Given the description of an element on the screen output the (x, y) to click on. 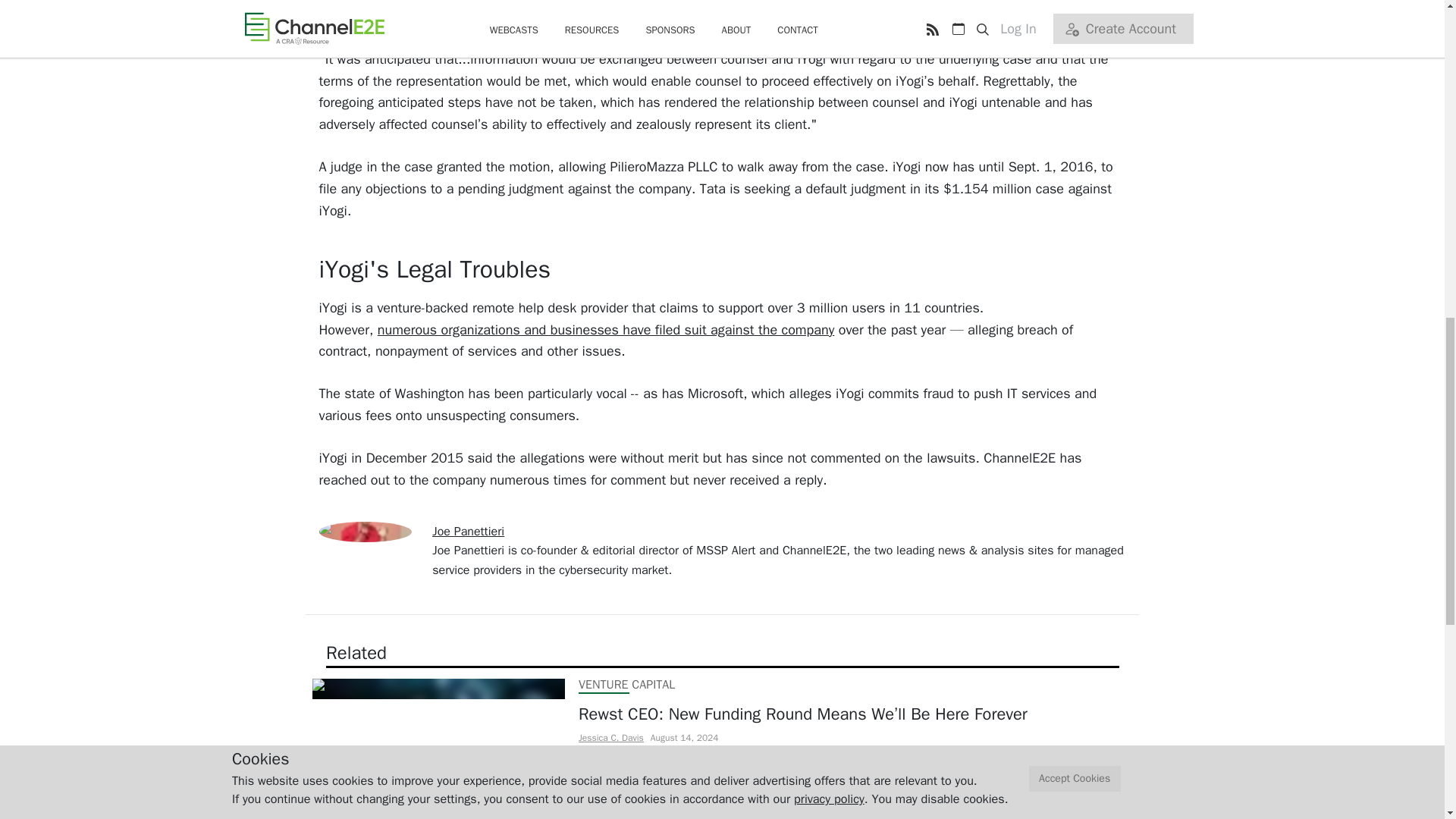
Jessica C. Davis (610, 737)
PilieroMazza PLLC (609, 1)
VENTURE CAPITAL (626, 683)
Joe Panettieri (467, 531)
